Given the description of an element on the screen output the (x, y) to click on. 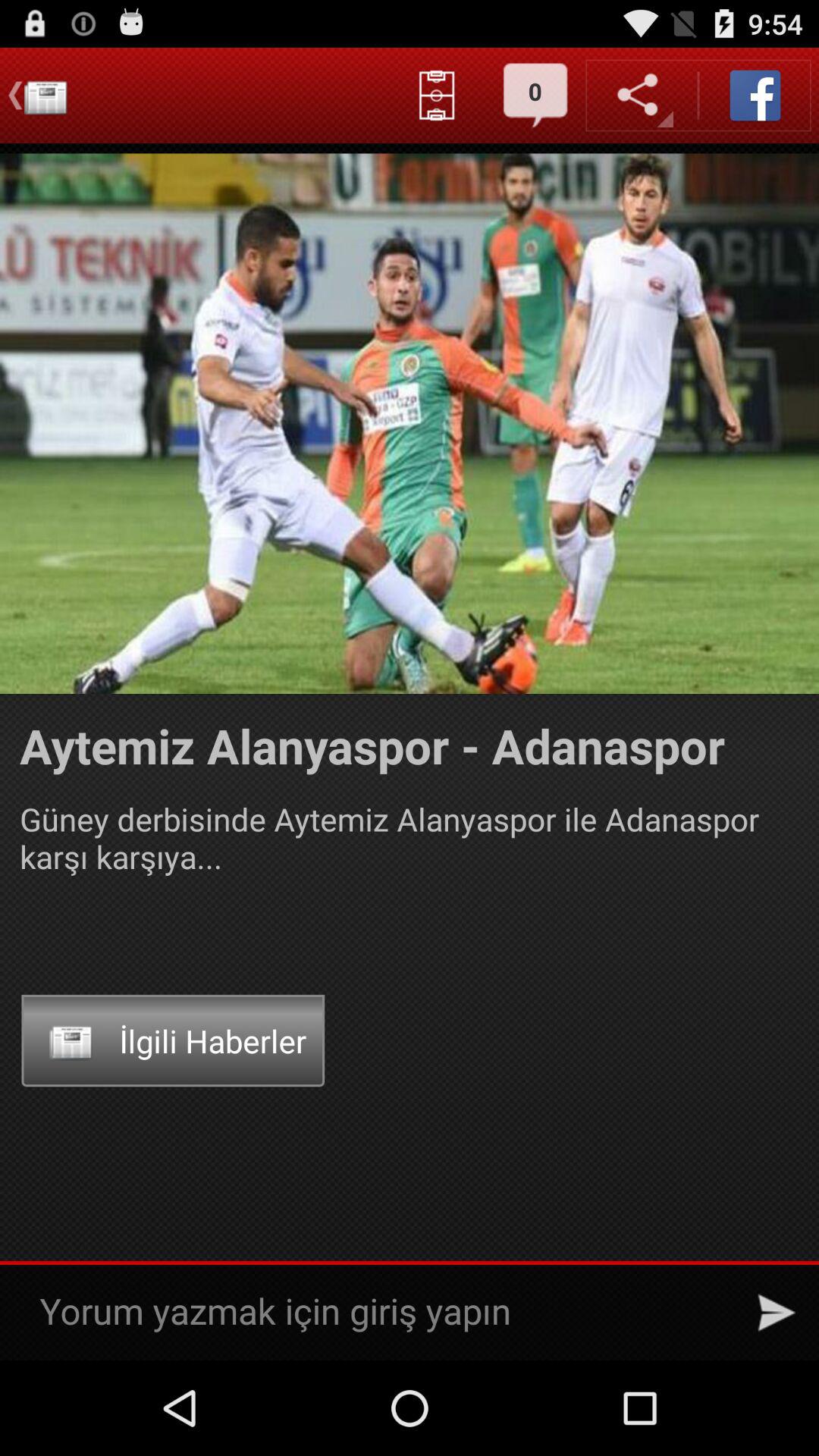
click onilgili haberler (172, 1040)
click on the button beside 0 (437, 95)
click on button which on left to share (535, 95)
select icon beside left arrow (45, 95)
select the text in the bottom of the page (382, 1313)
